Given the description of an element on the screen output the (x, y) to click on. 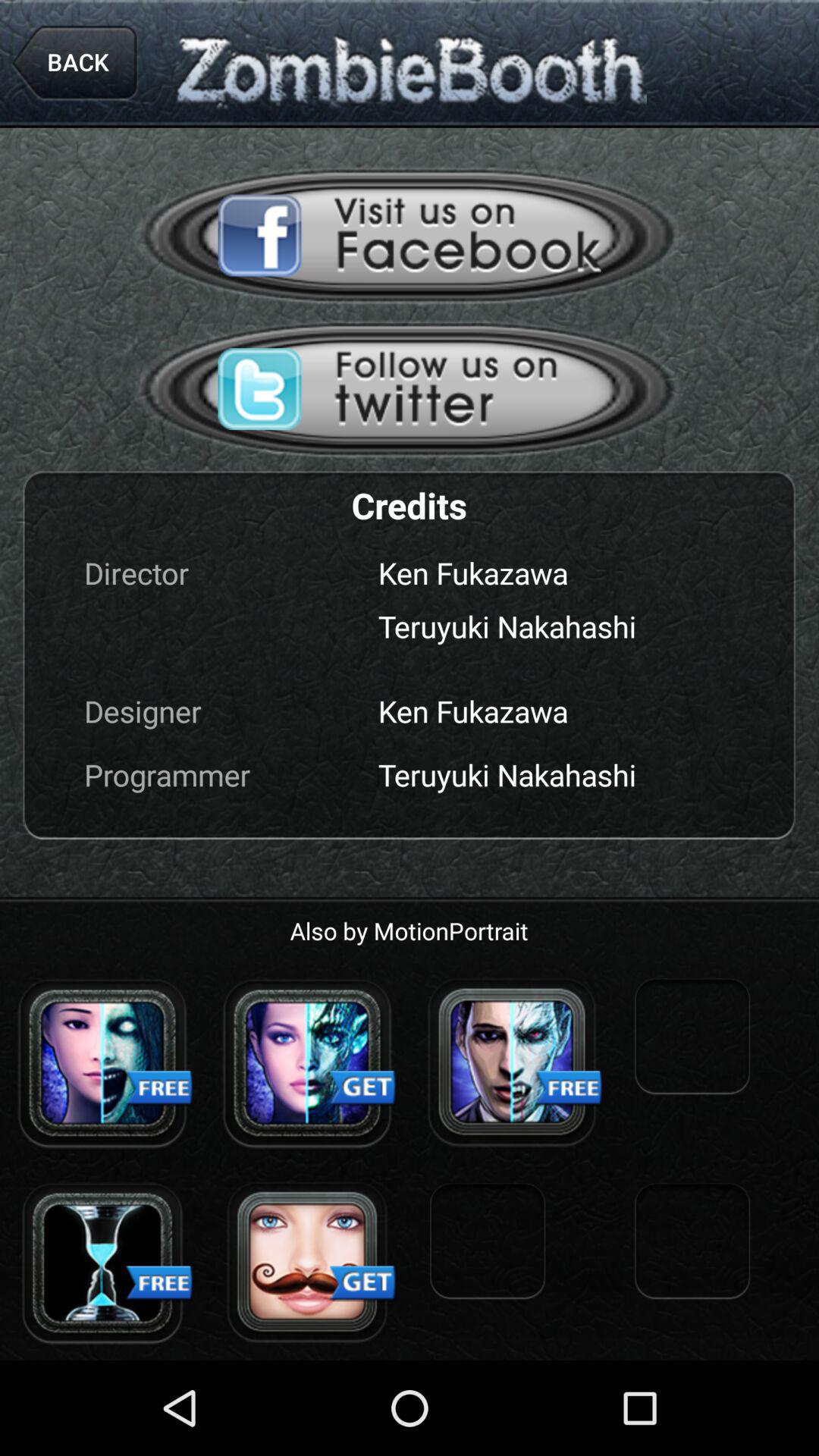
add time (102, 1262)
